Given the description of an element on the screen output the (x, y) to click on. 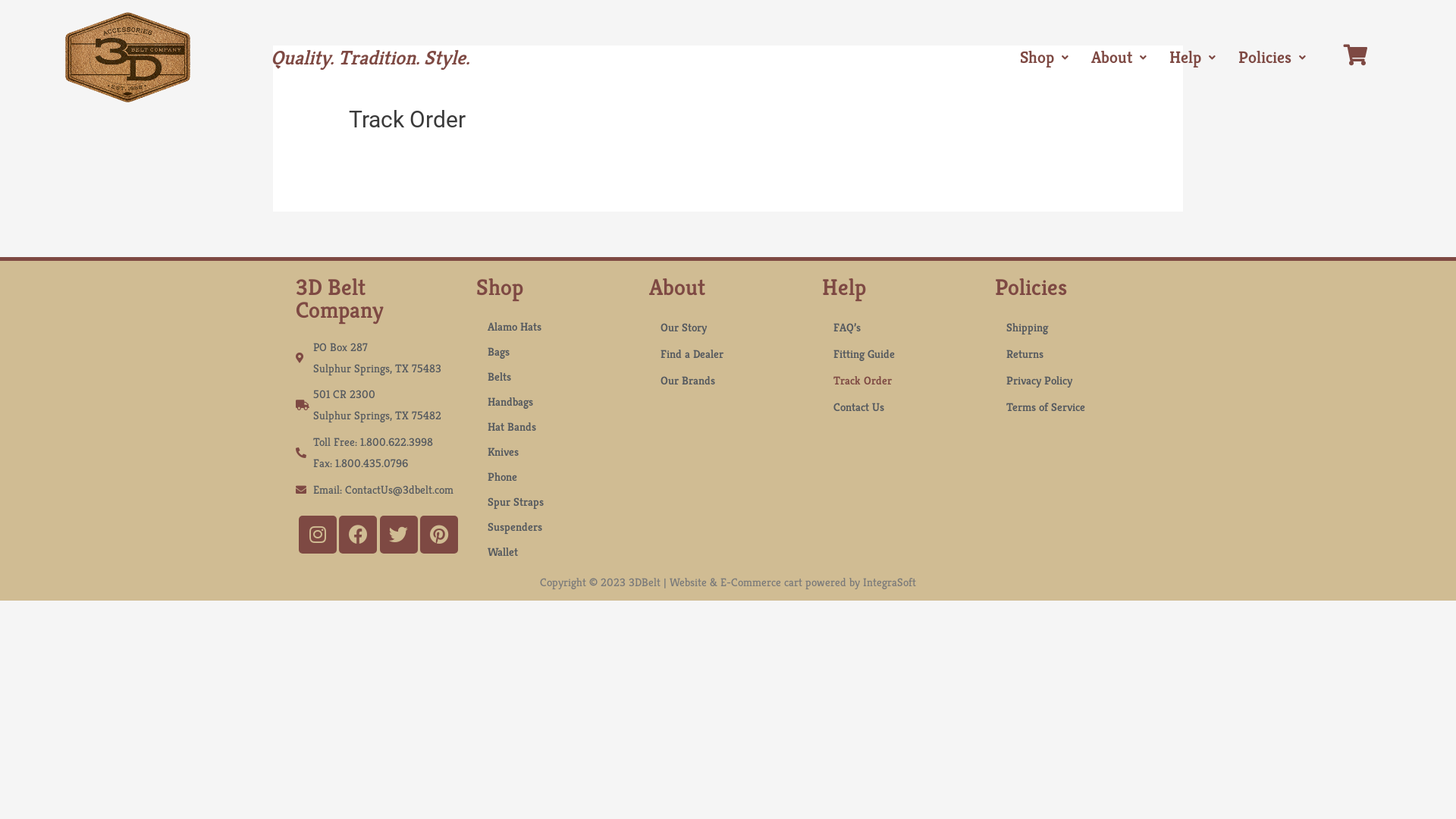
Belts Element type: text (554, 376)
Our Brands Element type: text (727, 380)
Our Story Element type: text (727, 326)
Returns Element type: text (1073, 353)
Shop Element type: text (1043, 57)
Track Order Element type: text (900, 380)
Wallet Element type: text (554, 551)
About Element type: text (1118, 57)
Hat Bands Element type: text (554, 426)
Help Element type: text (1191, 57)
Terms of Service Element type: text (1073, 406)
Suspenders Element type: text (554, 526)
Alamo Hats Element type: text (554, 325)
Spur Straps Element type: text (554, 501)
Shipping Element type: text (1073, 326)
Bags Element type: text (554, 351)
Handbags Element type: text (554, 401)
Fitting Guide Element type: text (900, 353)
Privacy Policy Element type: text (1073, 380)
Find a Dealer Element type: text (727, 353)
Contact Us Element type: text (900, 406)
Phone Element type: text (554, 476)
Policies Element type: text (1271, 57)
Knives Element type: text (554, 451)
IntegraSoft Element type: text (889, 581)
